Given the description of an element on the screen output the (x, y) to click on. 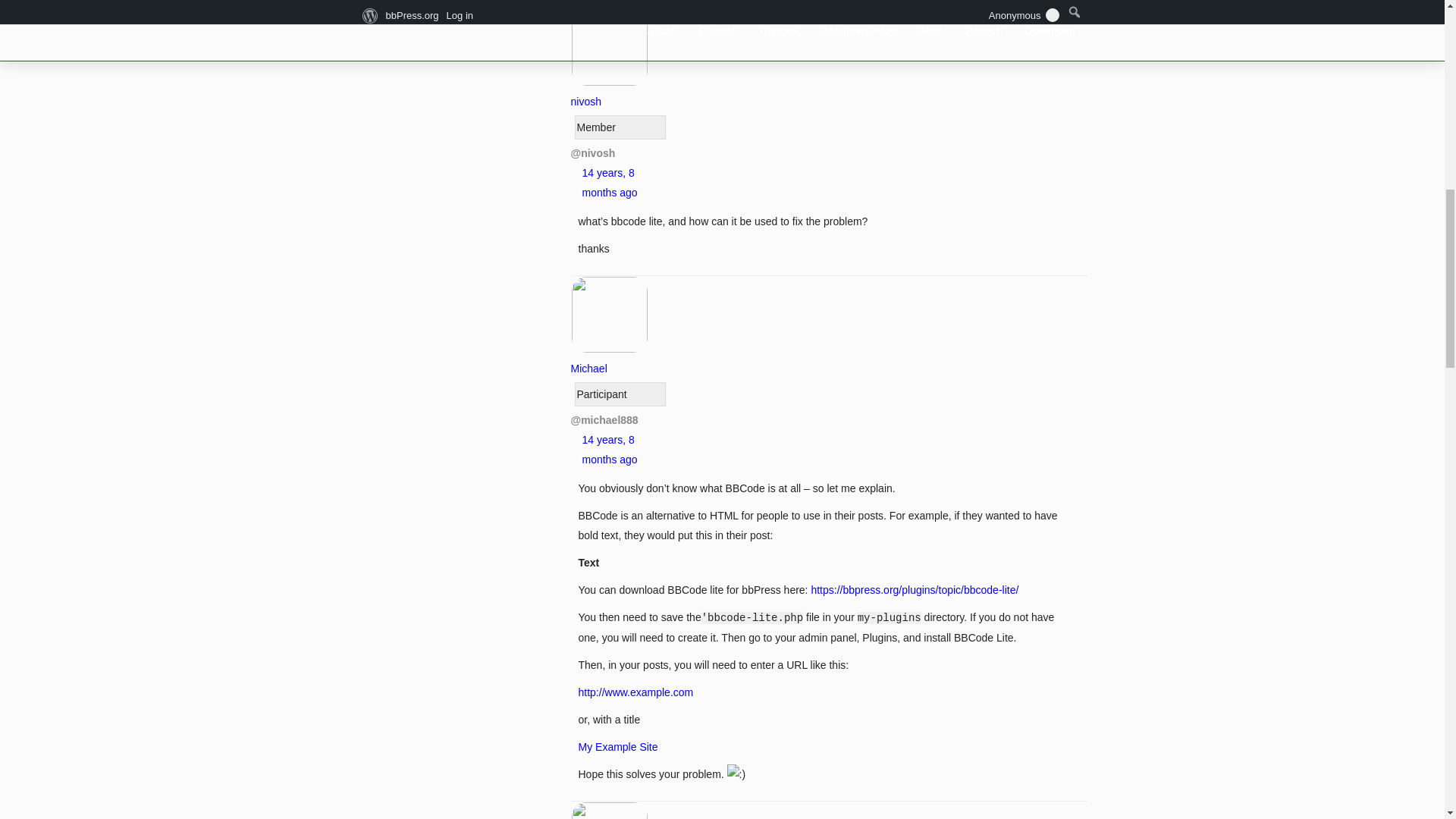
Michael (608, 358)
nivosh (608, 91)
14 years, 8 months ago (609, 183)
My Example Site (618, 746)
14 years, 8 months ago (609, 450)
